Given the description of an element on the screen output the (x, y) to click on. 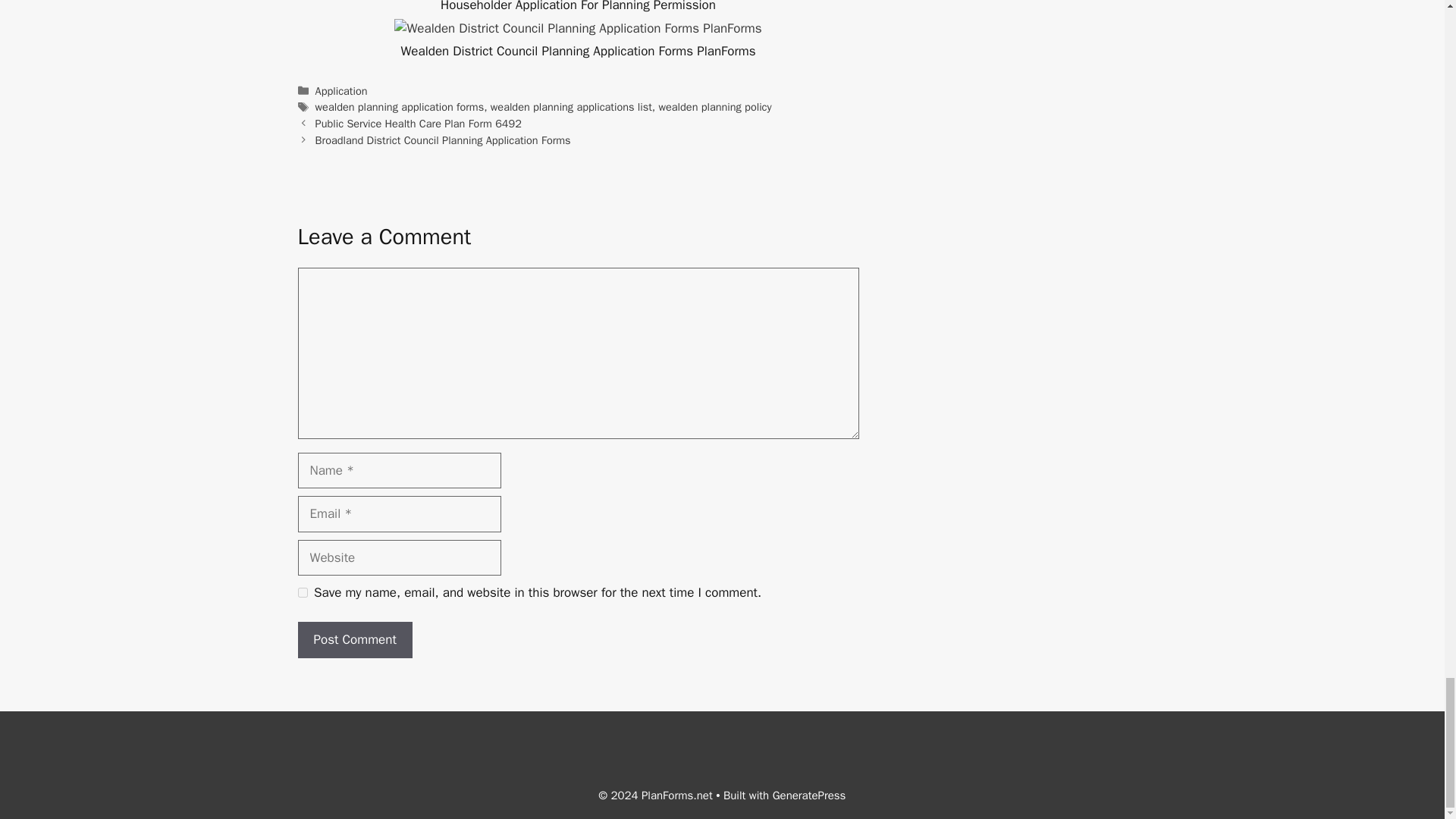
Public Service Health Care Plan Form 6492 (418, 123)
wealden planning policy (715, 106)
wealden planning applications list (571, 106)
wealden planning application forms (399, 106)
GeneratePress (809, 795)
Post Comment (354, 639)
Application (341, 90)
Post Comment (354, 639)
Broadland District Council Planning Application Forms (442, 140)
yes (302, 592)
